Given the description of an element on the screen output the (x, y) to click on. 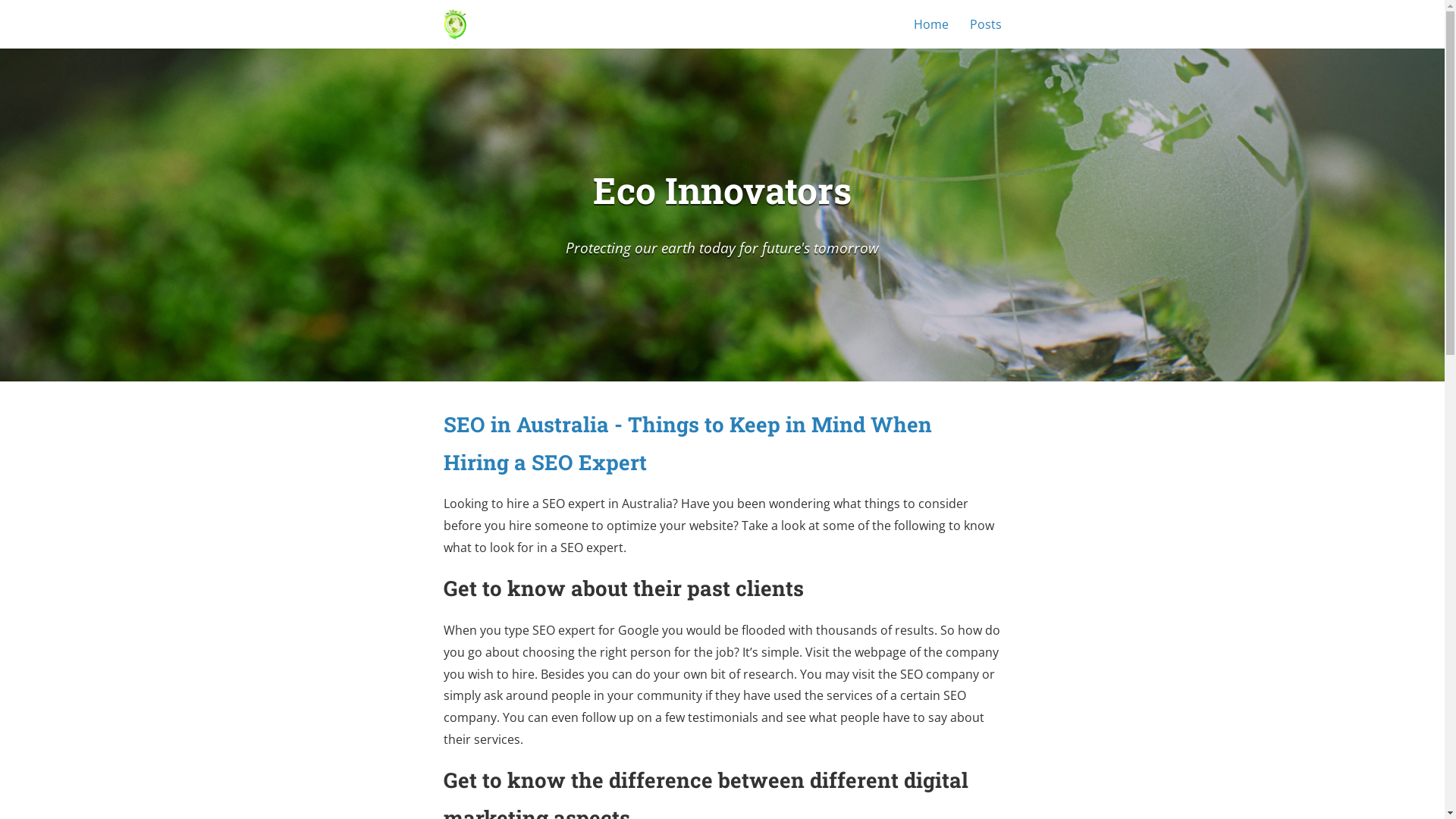
Posts Element type: text (991, 24)
Home Element type: text (939, 24)
